Given the description of an element on the screen output the (x, y) to click on. 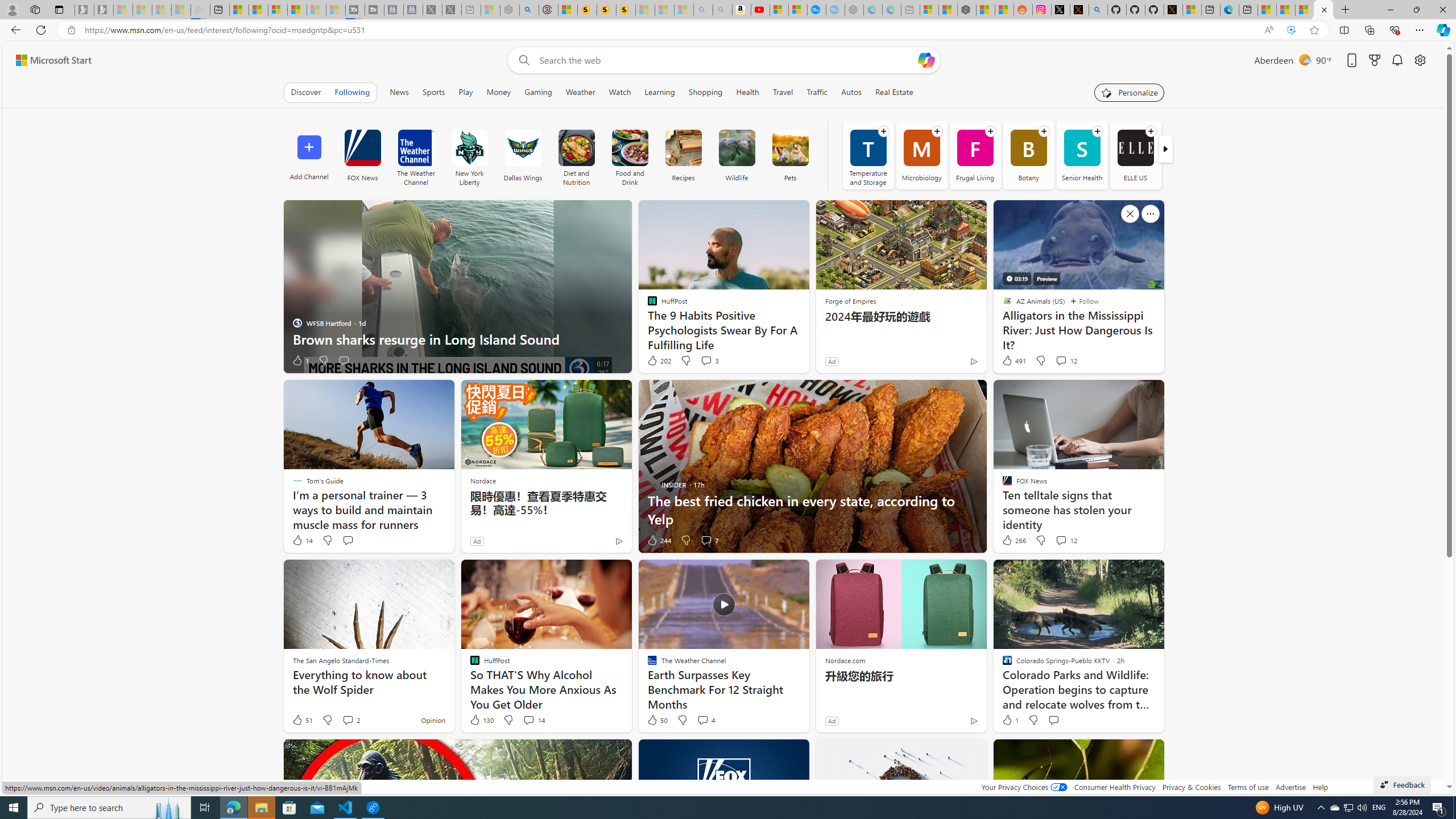
View comments 12 Comment (1061, 540)
Michelle Starr, Senior Journalist at ScienceAlert (625, 9)
ELLE US (1135, 147)
Follow (1084, 300)
